Given the description of an element on the screen output the (x, y) to click on. 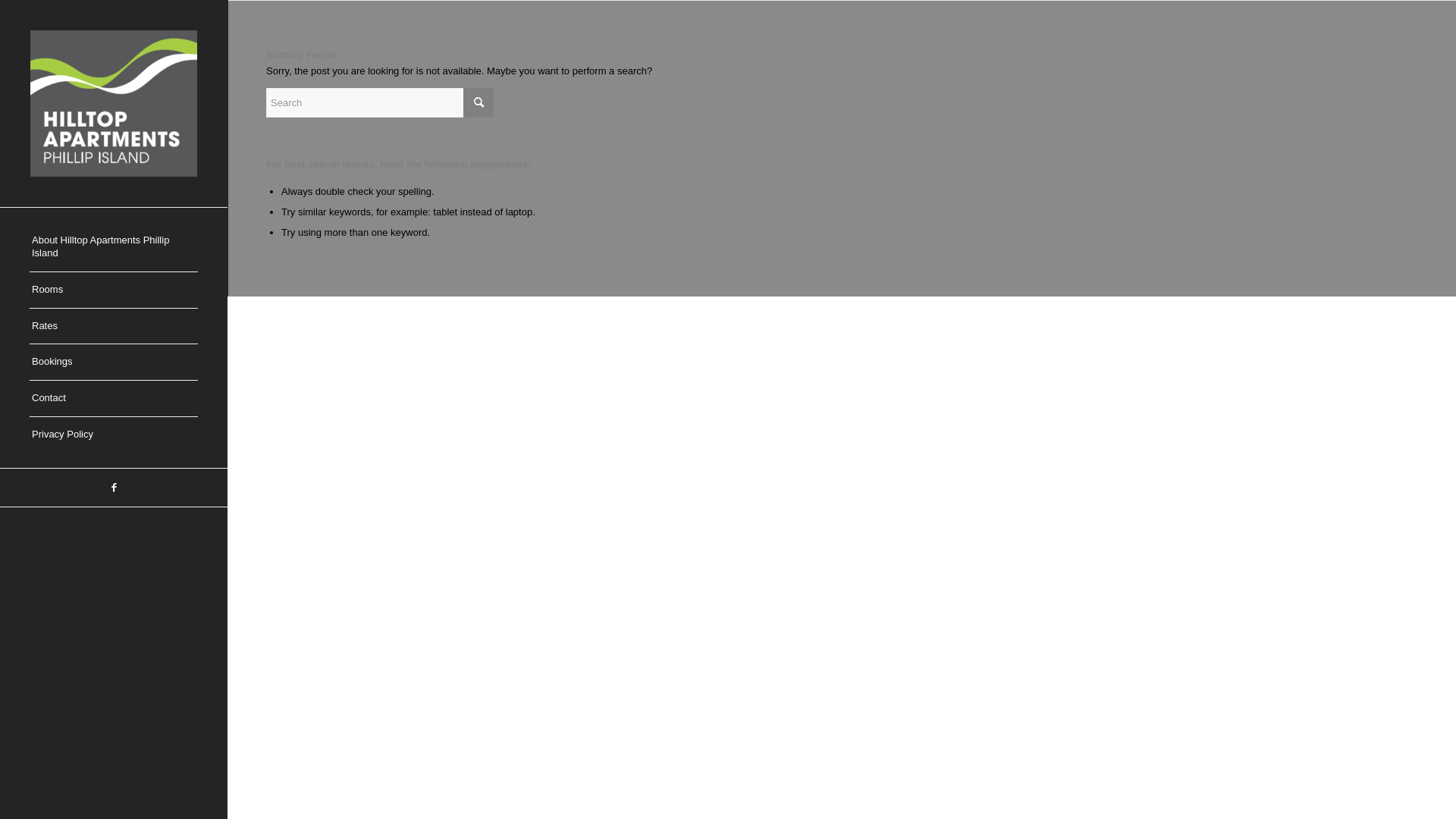
Contact Element type: text (113, 398)
Rooms Element type: text (113, 290)
About Hilltop Apartments Phillip Island Element type: text (113, 247)
Privacy Policy Element type: text (113, 434)
Facebook Element type: hover (113, 487)
Bookings Element type: text (113, 362)
Rates Element type: text (113, 326)
